Given the description of an element on the screen output the (x, y) to click on. 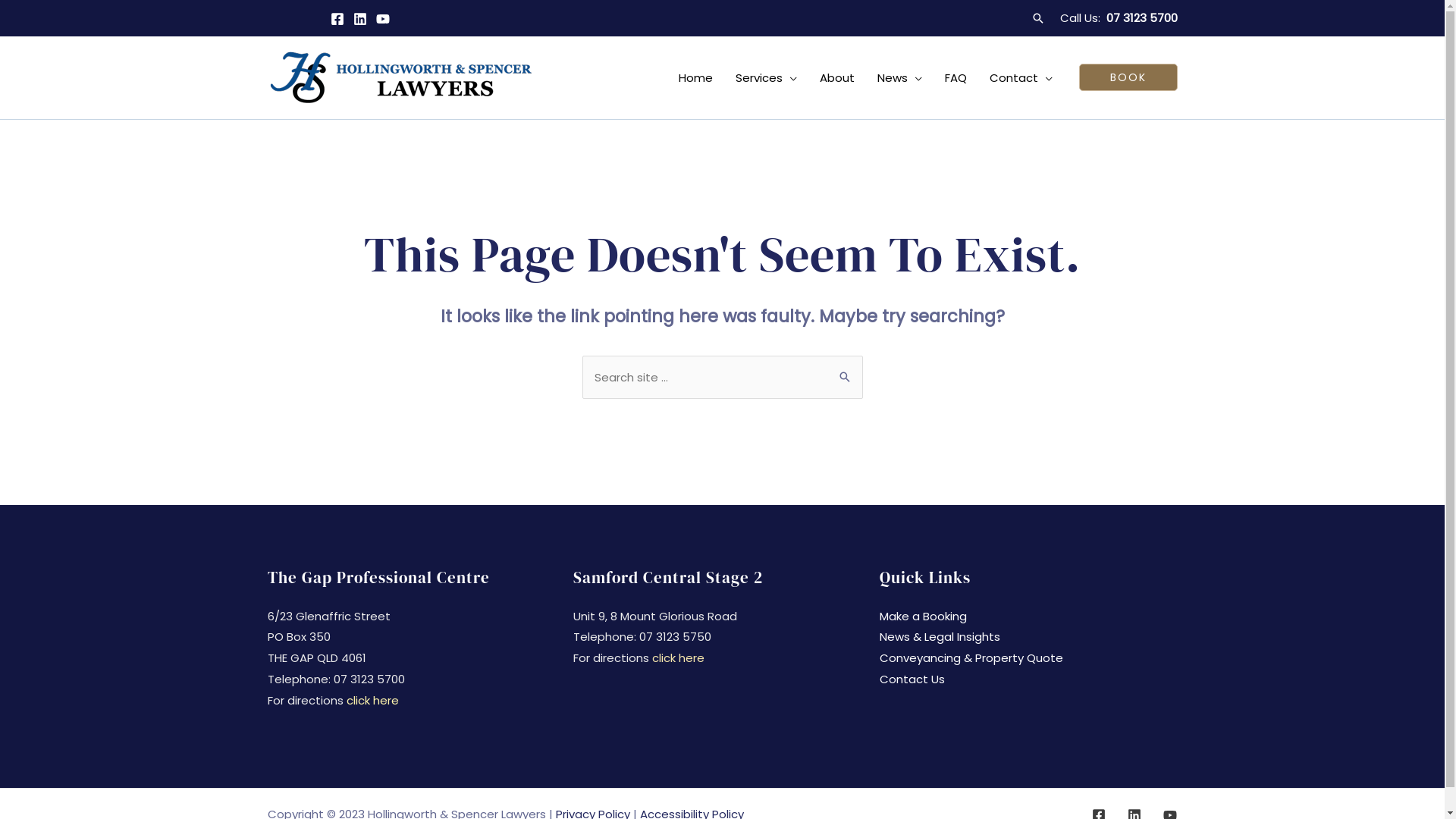
Home Element type: text (695, 77)
Search Element type: text (845, 370)
BOOK Element type: text (1127, 77)
Search Element type: text (1037, 18)
click here Element type: text (371, 700)
Conveyancing & Property Quote Element type: text (971, 657)
FAQ Element type: text (954, 77)
News & Legal Insights Element type: text (939, 636)
Contact Element type: text (1020, 77)
News Element type: text (899, 77)
Services Element type: text (765, 77)
Make a Booking Element type: text (922, 616)
About Element type: text (837, 77)
click here Element type: text (678, 657)
Contact Us Element type: text (911, 679)
